Given the description of an element on the screen output the (x, y) to click on. 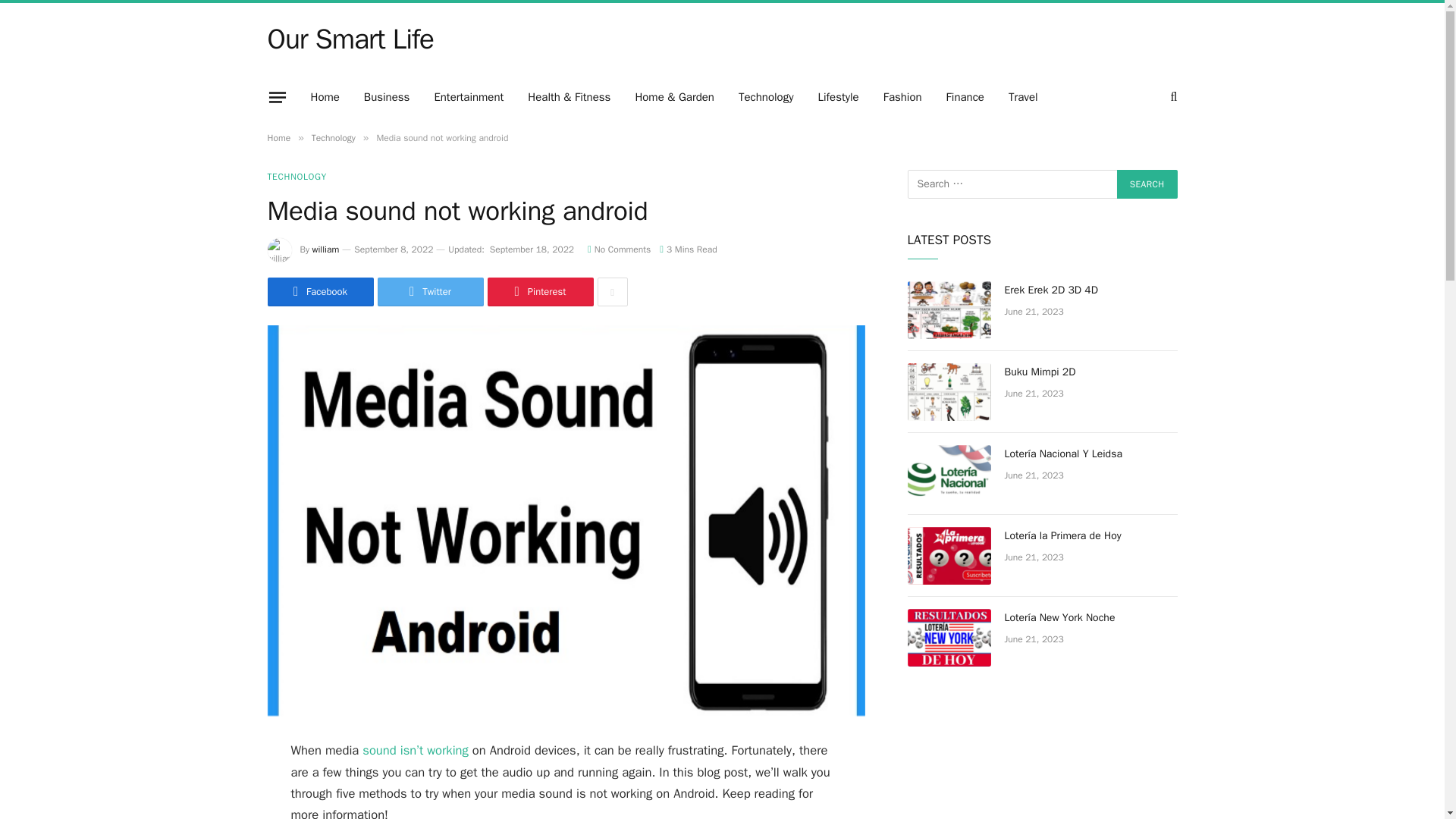
Our Smart Life (349, 39)
Fashion (902, 96)
Home (277, 137)
Business (387, 96)
Lifestyle (837, 96)
Share on Pinterest (539, 291)
Travel (1022, 96)
Share on Facebook (319, 291)
Entertainment (468, 96)
TECHNOLOGY (296, 176)
